Given the description of an element on the screen output the (x, y) to click on. 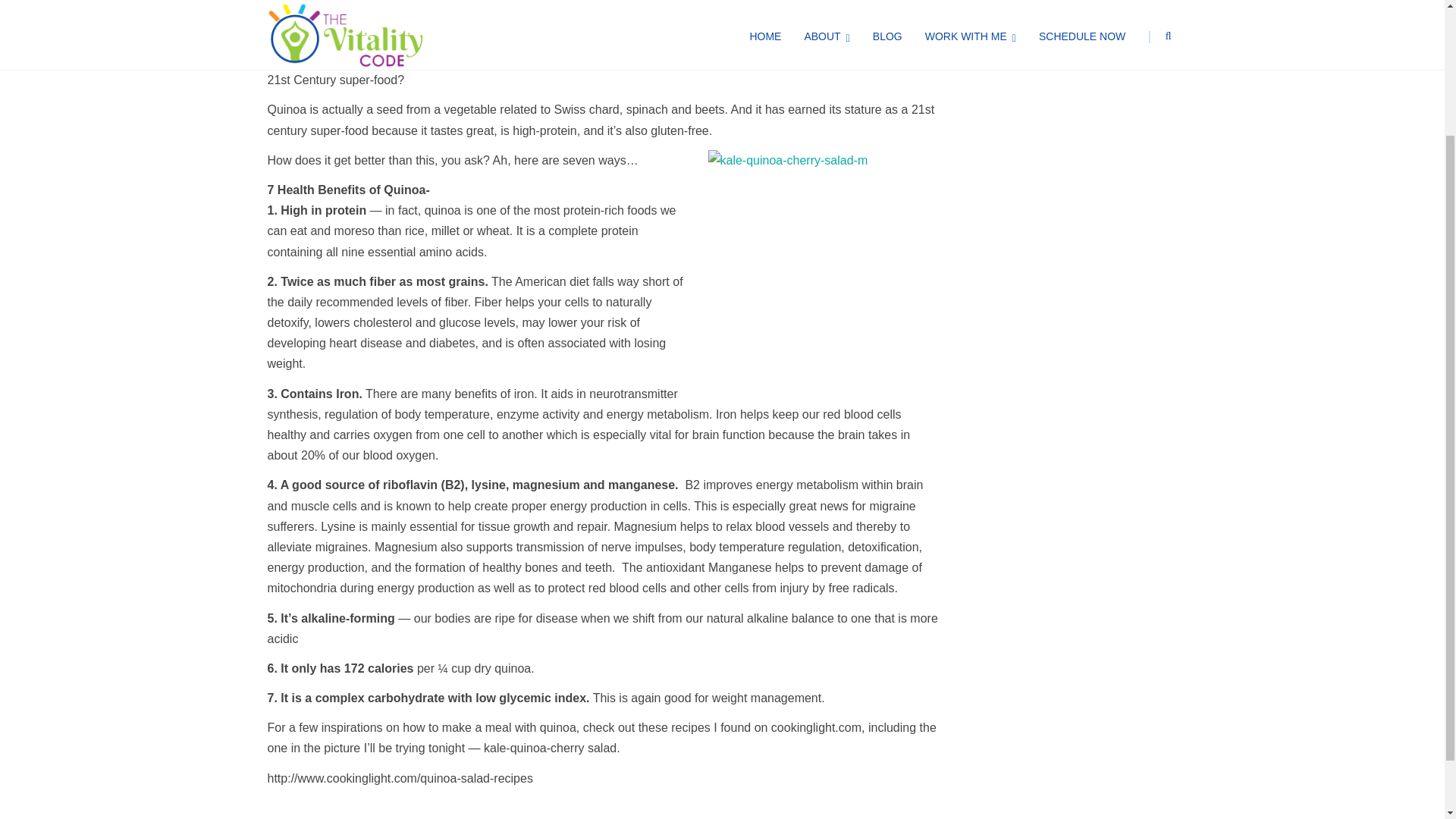
By admin (404, 31)
Get Personal 1:1 Coaching (330, 467)
Start with a Free 30-Minute Consultation (361, 488)
